Given the description of an element on the screen output the (x, y) to click on. 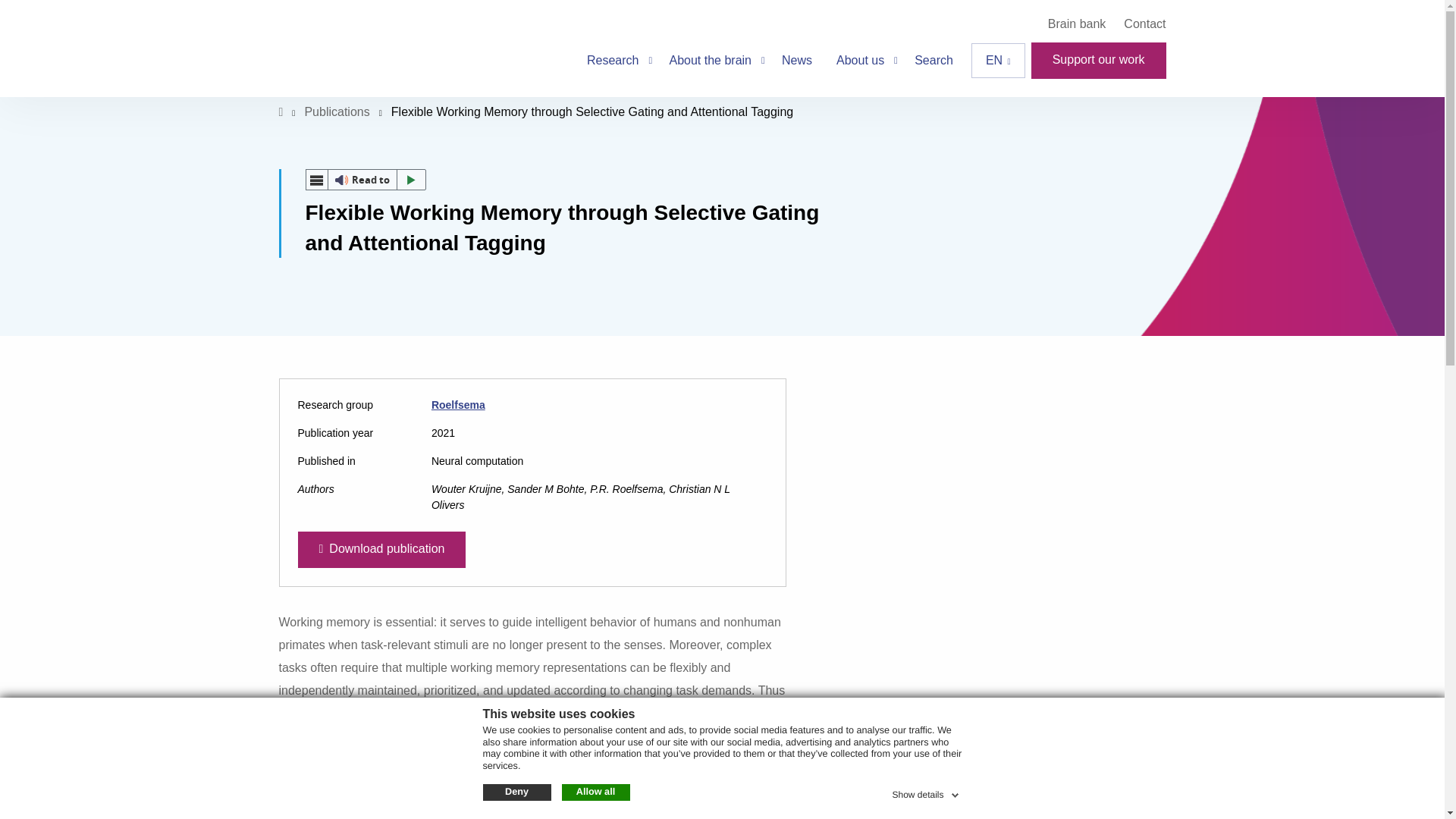
Deny (515, 791)
Show details (925, 791)
Allow all (594, 791)
